Given the description of an element on the screen output the (x, y) to click on. 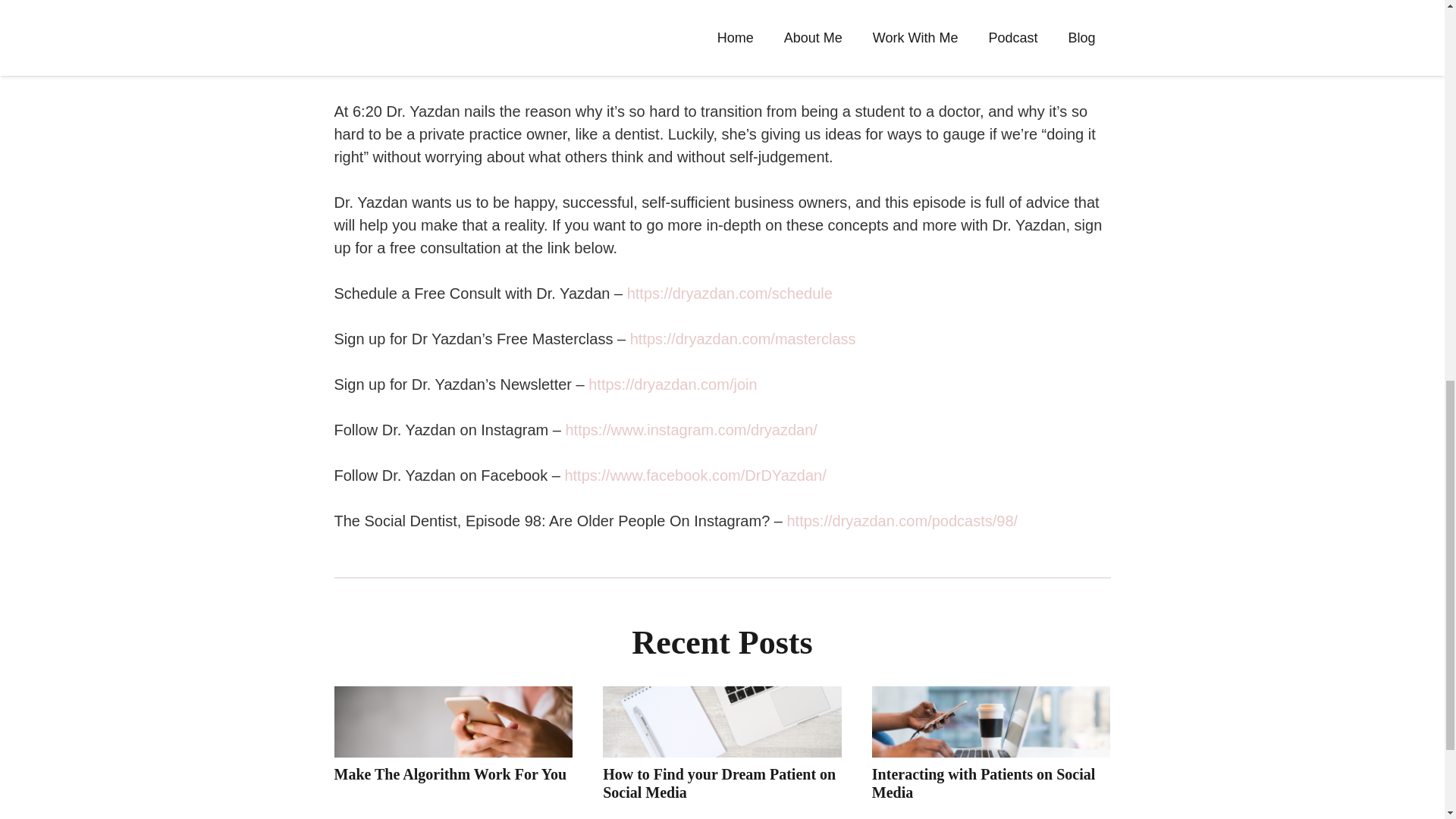
How to Find your Dream Patient on Social Media (718, 782)
Back to top (1413, 26)
Interacting with Patients on Social Media (983, 782)
Make The Algorithm Work For You (449, 773)
